Given the description of an element on the screen output the (x, y) to click on. 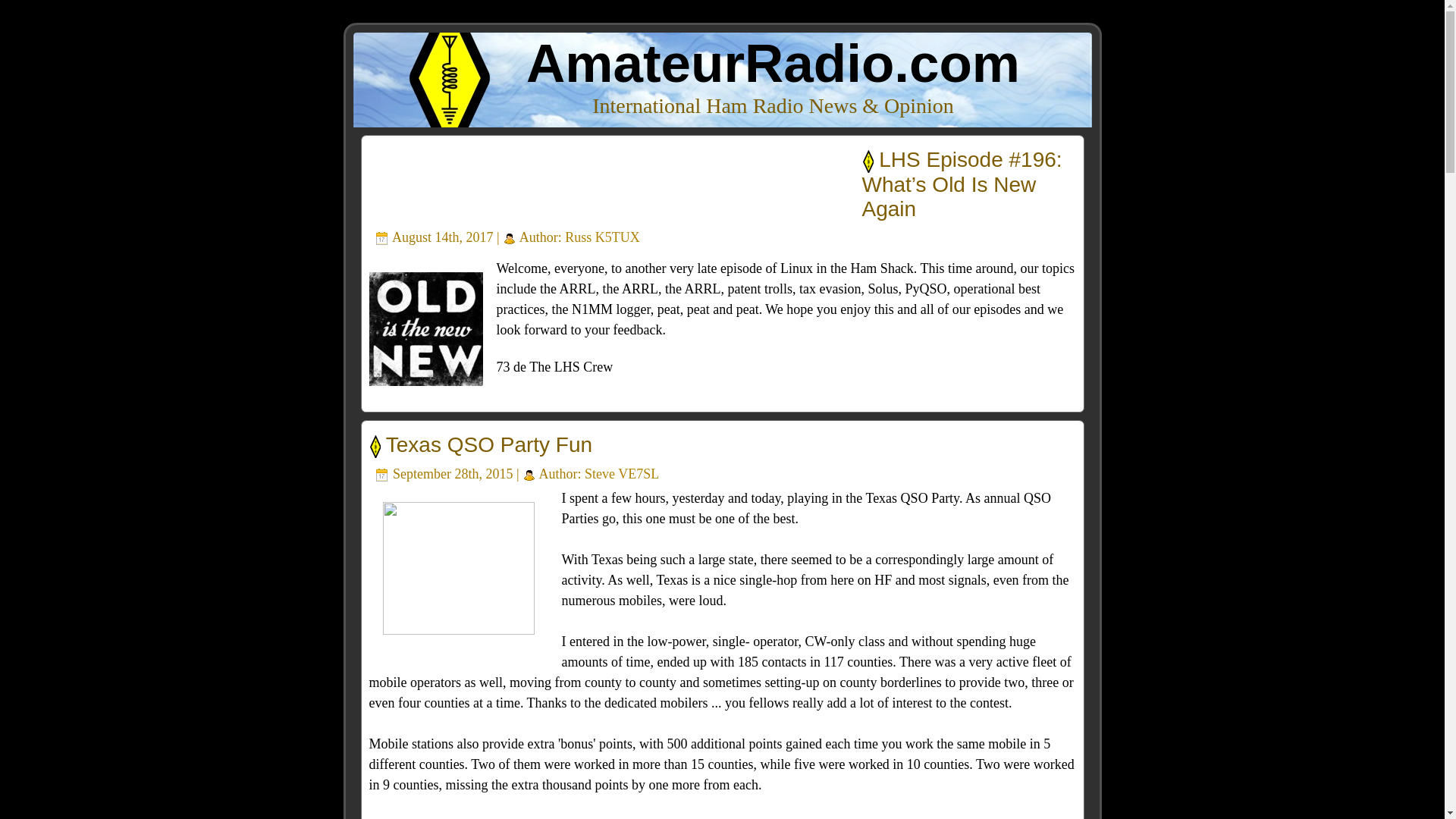
Posts by Steve VE7SL (622, 473)
AmateurRadio.com (772, 63)
Permanent Link to Texas QSO Party Fun (488, 444)
Russ K5TUX (602, 237)
Posts by Russ K5TUX (602, 237)
Steve VE7SL (622, 473)
Texas QSO Party Fun (488, 444)
